Given the description of an element on the screen output the (x, y) to click on. 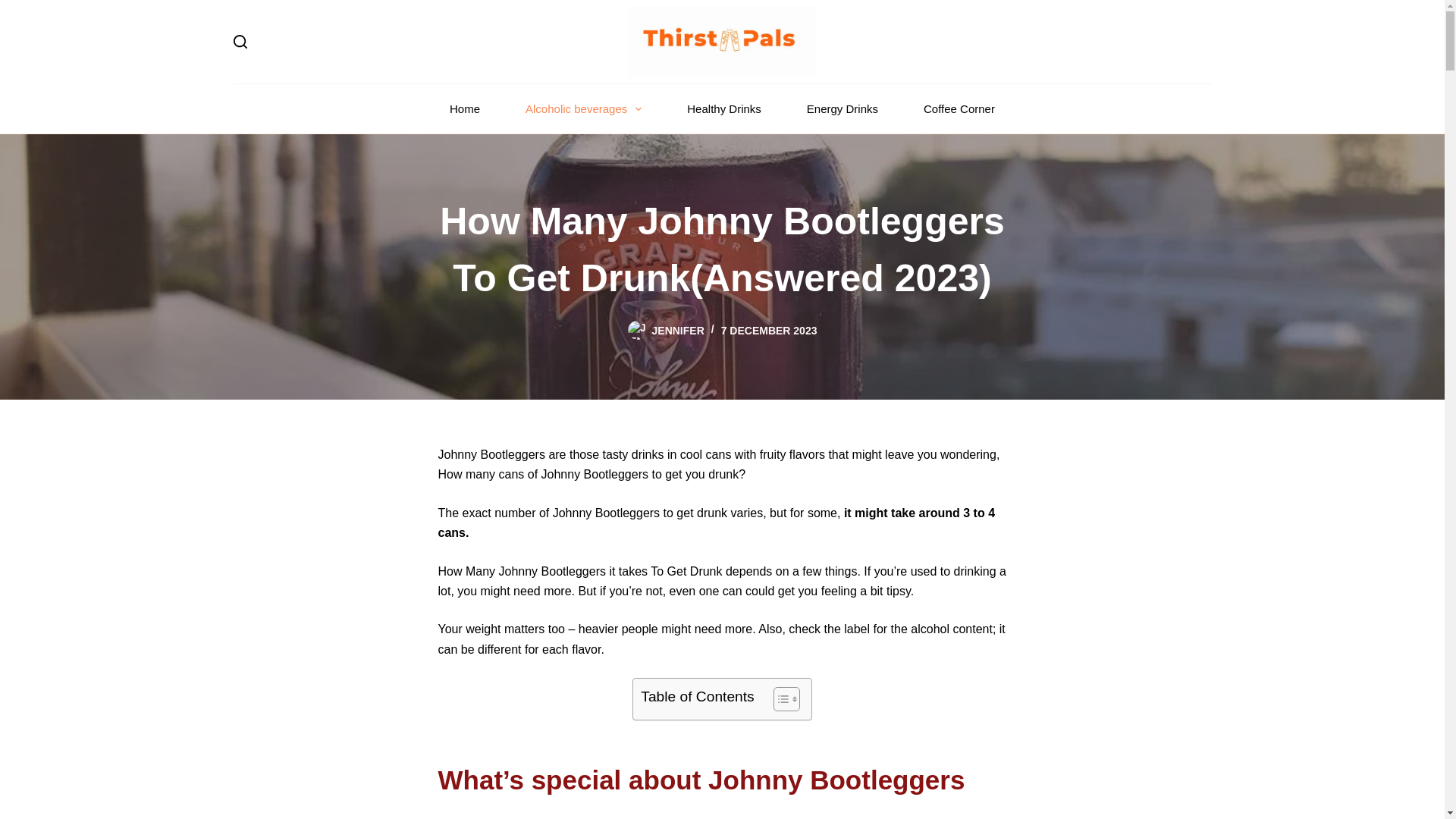
Home (464, 108)
JENNIFER (678, 330)
Skip to content (15, 7)
Posts by Jennifer (678, 330)
Healthy Drinks (723, 108)
Alcoholic beverages (582, 108)
Energy Drinks (842, 108)
Coffee Corner (959, 108)
